Given the description of an element on the screen output the (x, y) to click on. 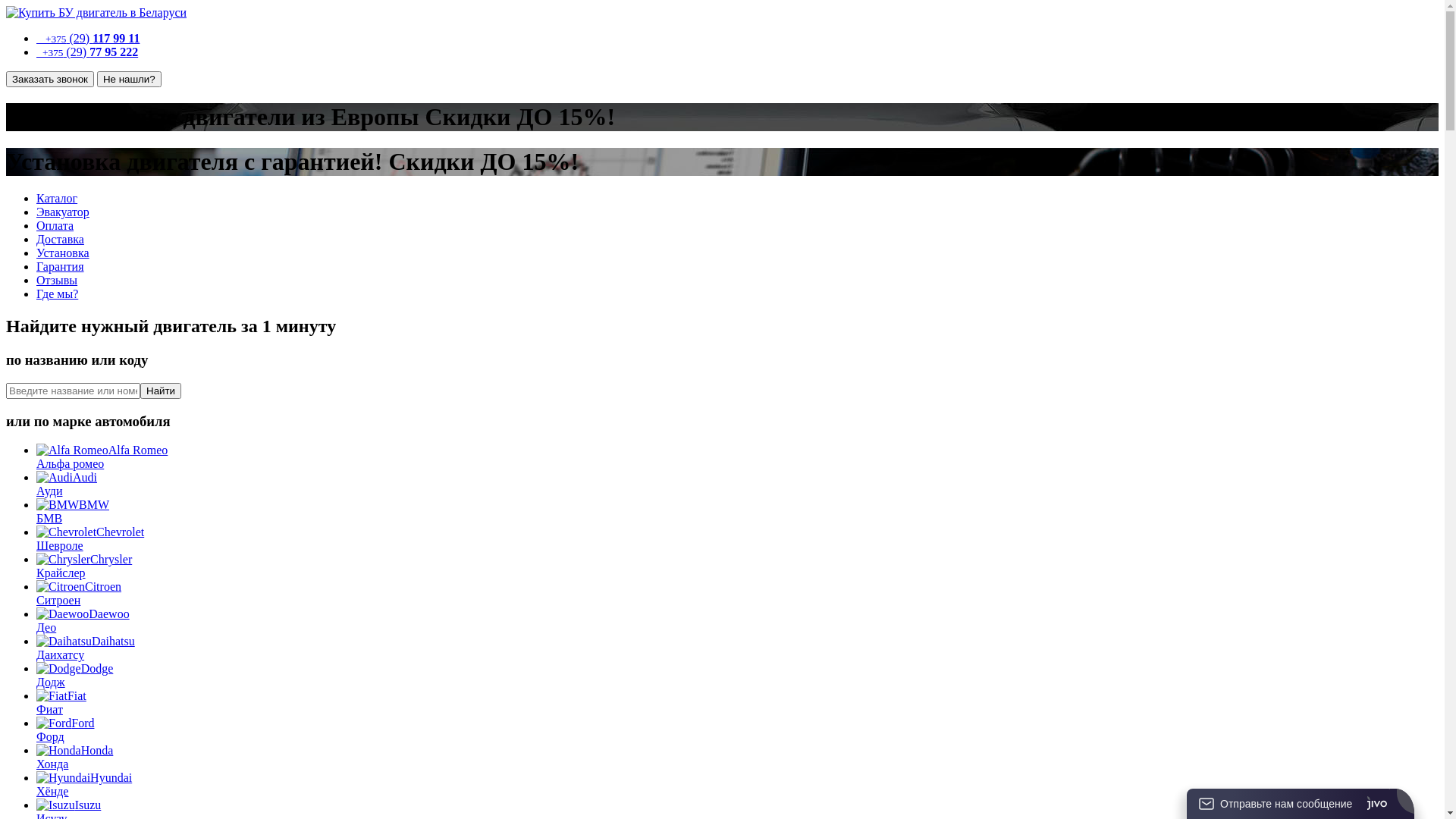
  +375 (29) 77 95 222 Element type: text (87, 51)
   +375 (29) 117 99 11 Element type: text (87, 37)
